Given the description of an element on the screen output the (x, y) to click on. 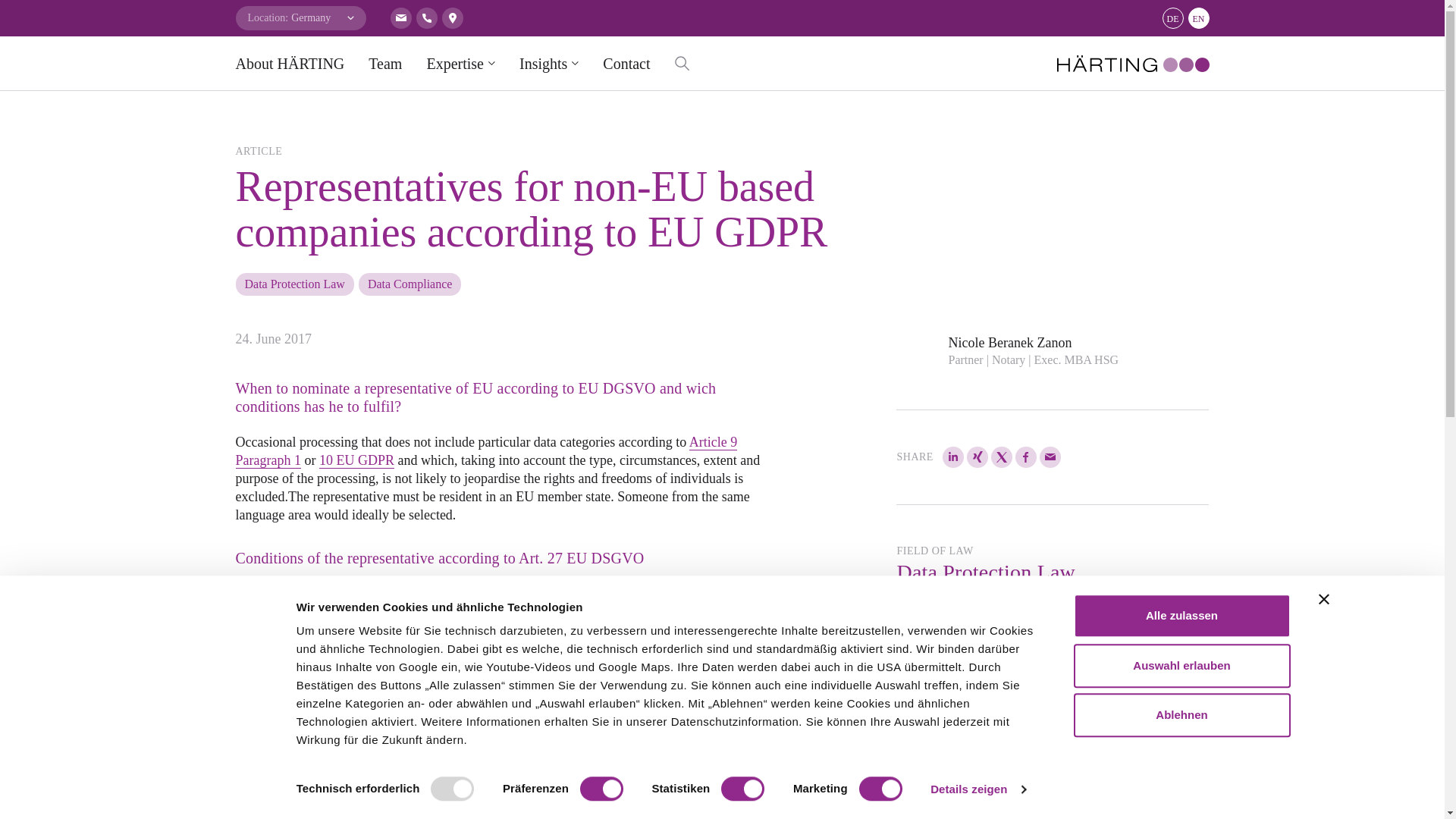
Details zeigen (977, 789)
Ablehnen (1182, 714)
EN (1198, 17)
Alle zulassen (1182, 615)
Auswahl erlauben (1182, 665)
DE (1171, 17)
